Given the description of an element on the screen output the (x, y) to click on. 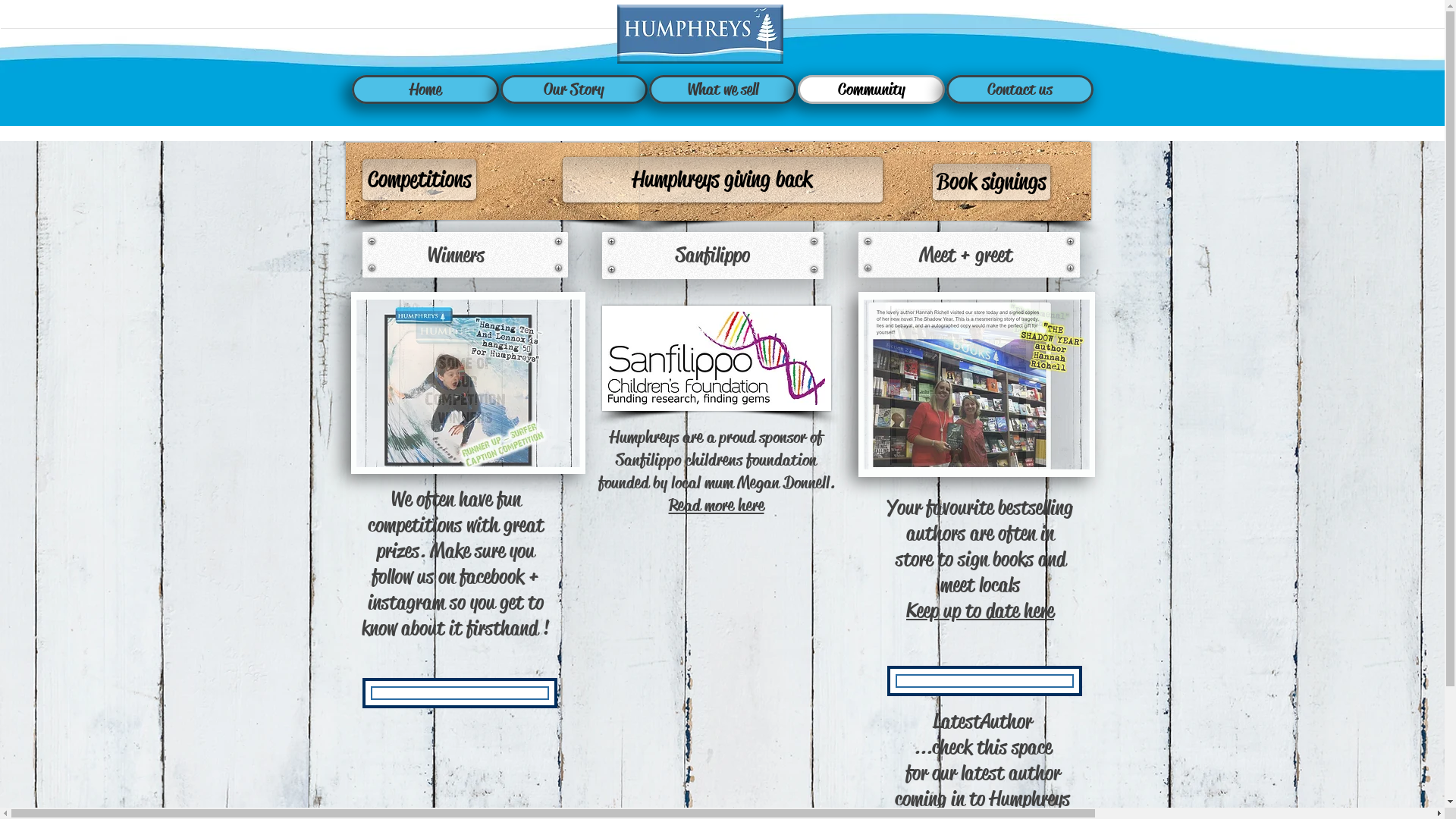
Read more here  Element type: text (716, 504)
Our Story Element type: text (573, 89)
Home Element type: text (424, 89)
Contact us Element type: text (1019, 89)
Humphreys giving back Element type: text (722, 179)
Keep up to  date  here Element type: text (980, 609)
Competitions Element type: text (419, 179)
Community Element type: text (870, 89)
External YouTube Element type: hover (721, 643)
Book signings Element type: text (991, 181)
What we sell Element type: text (722, 89)
